Given the description of an element on the screen output the (x, y) to click on. 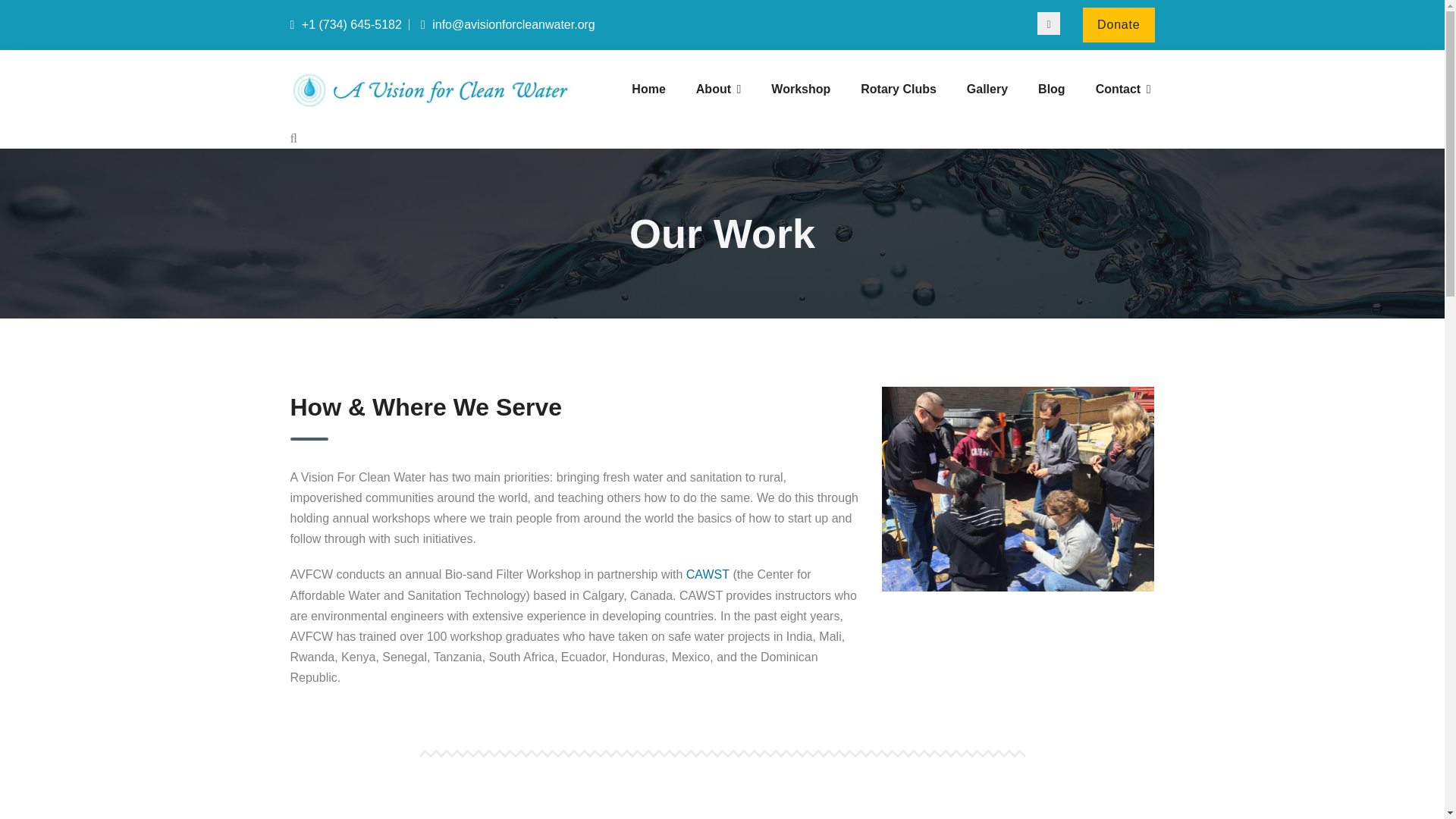
Home (647, 88)
Rotary Clubs (898, 88)
Rotary Clubs (898, 88)
Gallery (987, 88)
Workshop (800, 88)
Workshop (800, 88)
Home (647, 88)
About (719, 88)
Blog (1051, 88)
Blog (1051, 88)
